Given the description of an element on the screen output the (x, y) to click on. 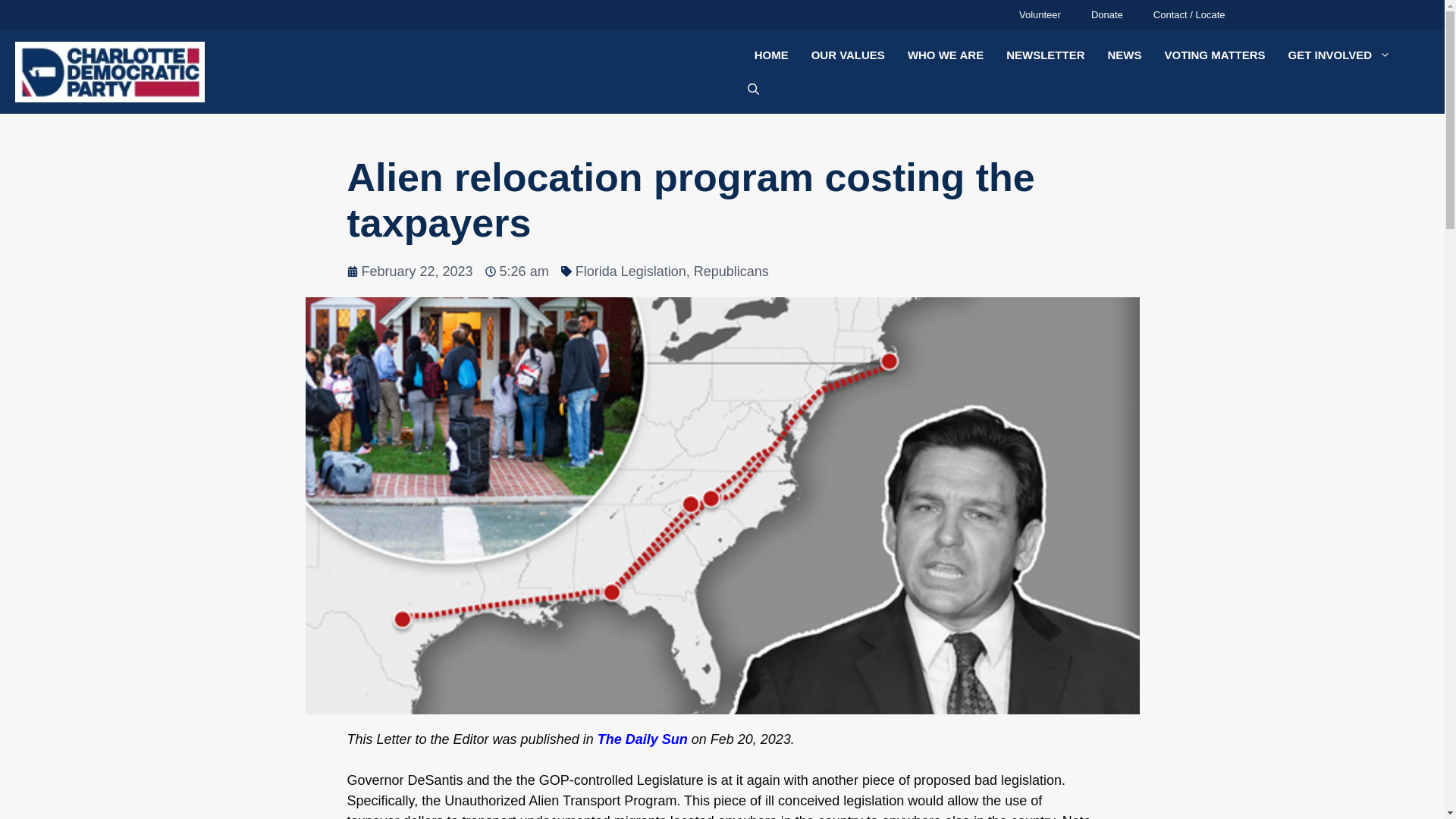
Donate (1106, 15)
Volunteer (1039, 15)
The Daily Sun (641, 739)
HOME (770, 54)
VOTING MATTERS (1214, 54)
NEWS (1124, 54)
GET INVOLVED (1339, 54)
Florida Legislation (630, 271)
Republicans (731, 271)
OUR VALUES (847, 54)
